Given the description of an element on the screen output the (x, y) to click on. 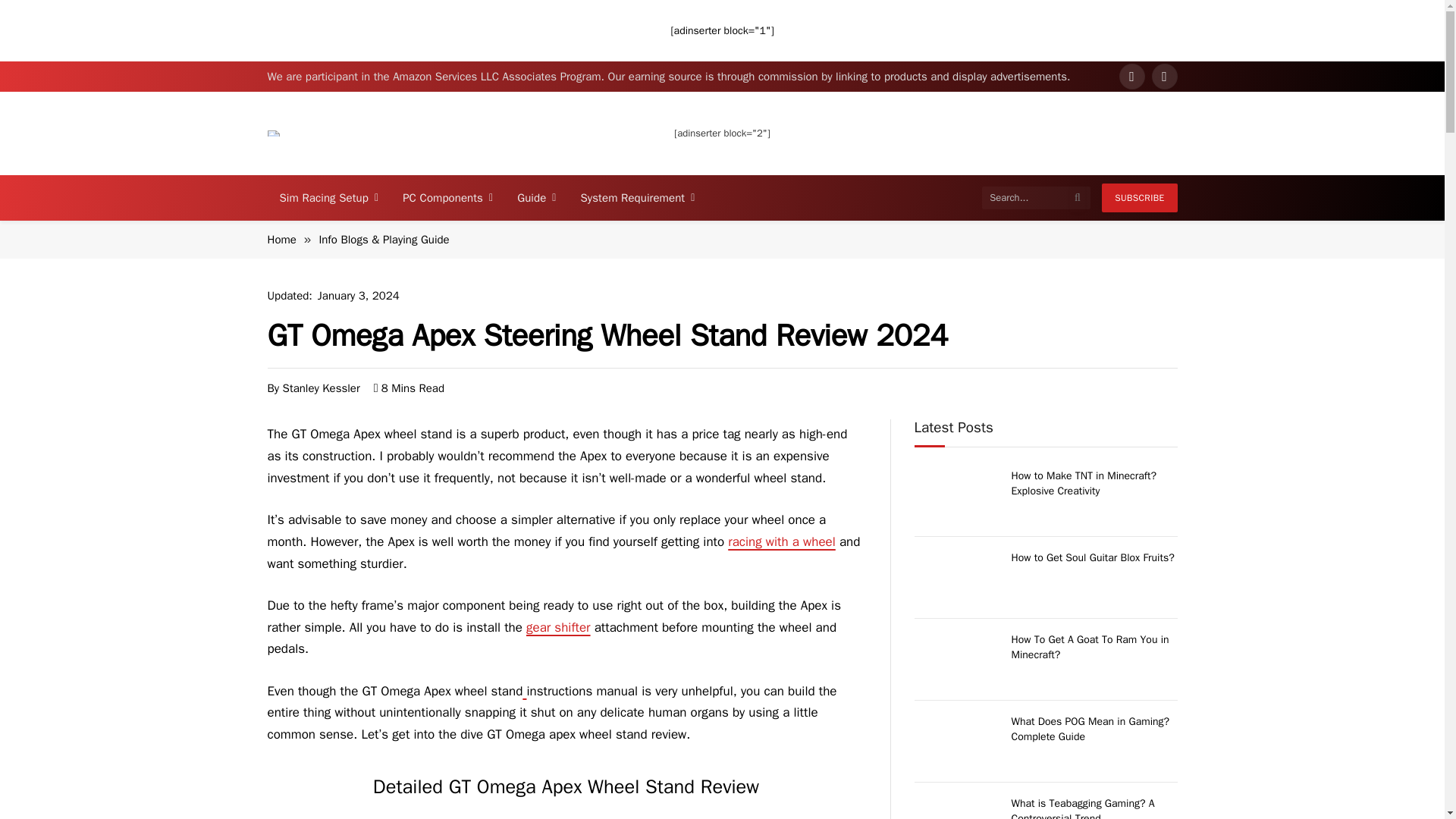
Sim Racing Setup (328, 197)
Guide (536, 197)
PC Components (447, 197)
Pinterest (1163, 76)
Posts by Stanley Kessler (320, 386)
System Requirement (638, 197)
Facebook (1131, 76)
SUBSCRIBE (1139, 197)
